Given the description of an element on the screen output the (x, y) to click on. 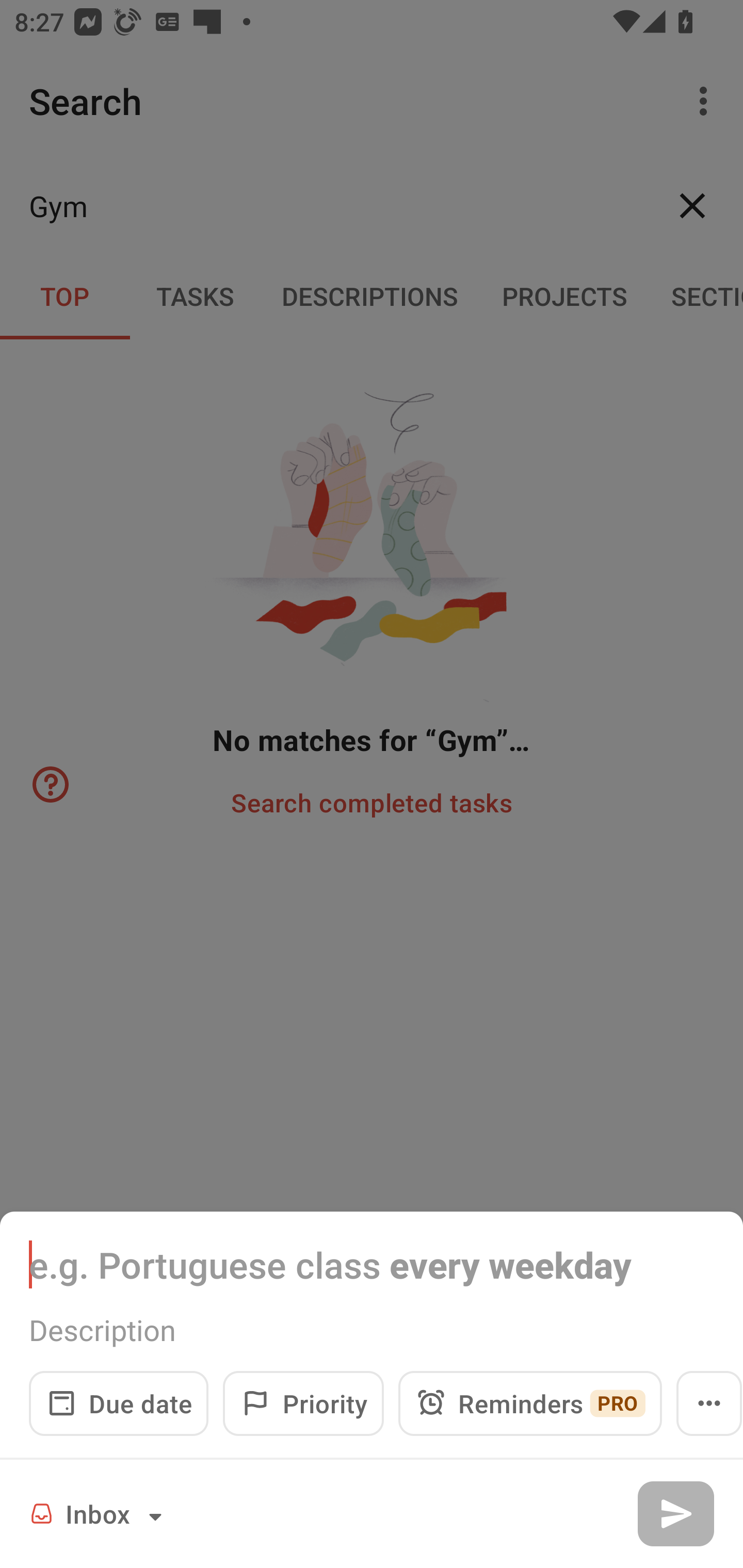
e.g. Portuguese class every weekday (371, 1264)
Description (371, 1330)
Due date Date (118, 1403)
Priority (303, 1403)
Reminders PRO Reminders (530, 1403)
Open menu (709, 1403)
Inbox Project (99, 1513)
Add (675, 1513)
